Given the description of an element on the screen output the (x, y) to click on. 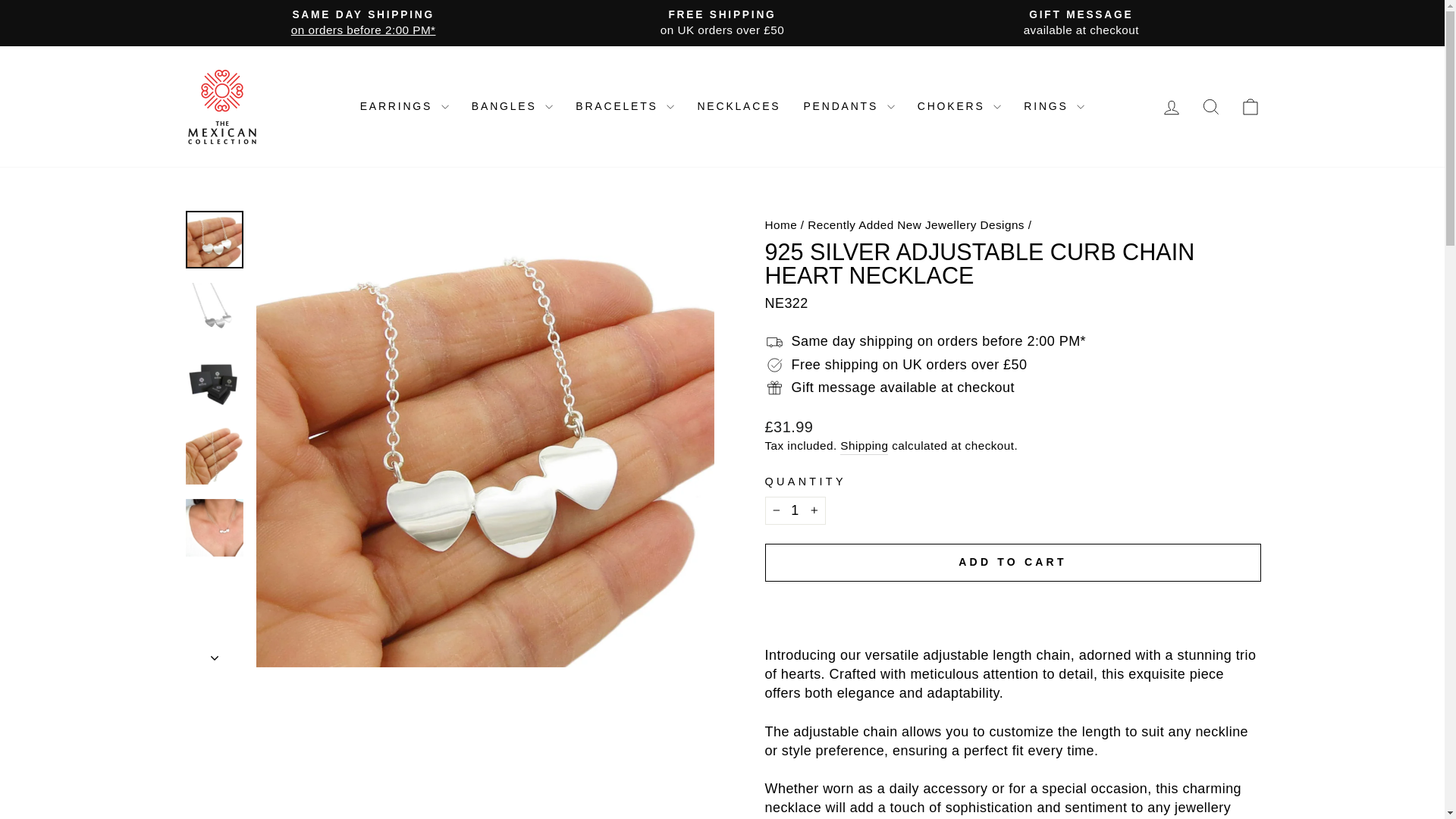
ICON-SEARCH (1210, 106)
ACCOUNT (1170, 107)
Back to the frontpage (780, 224)
ICON-BAG-MINIMAL (1249, 106)
1 (794, 510)
